Given the description of an element on the screen output the (x, y) to click on. 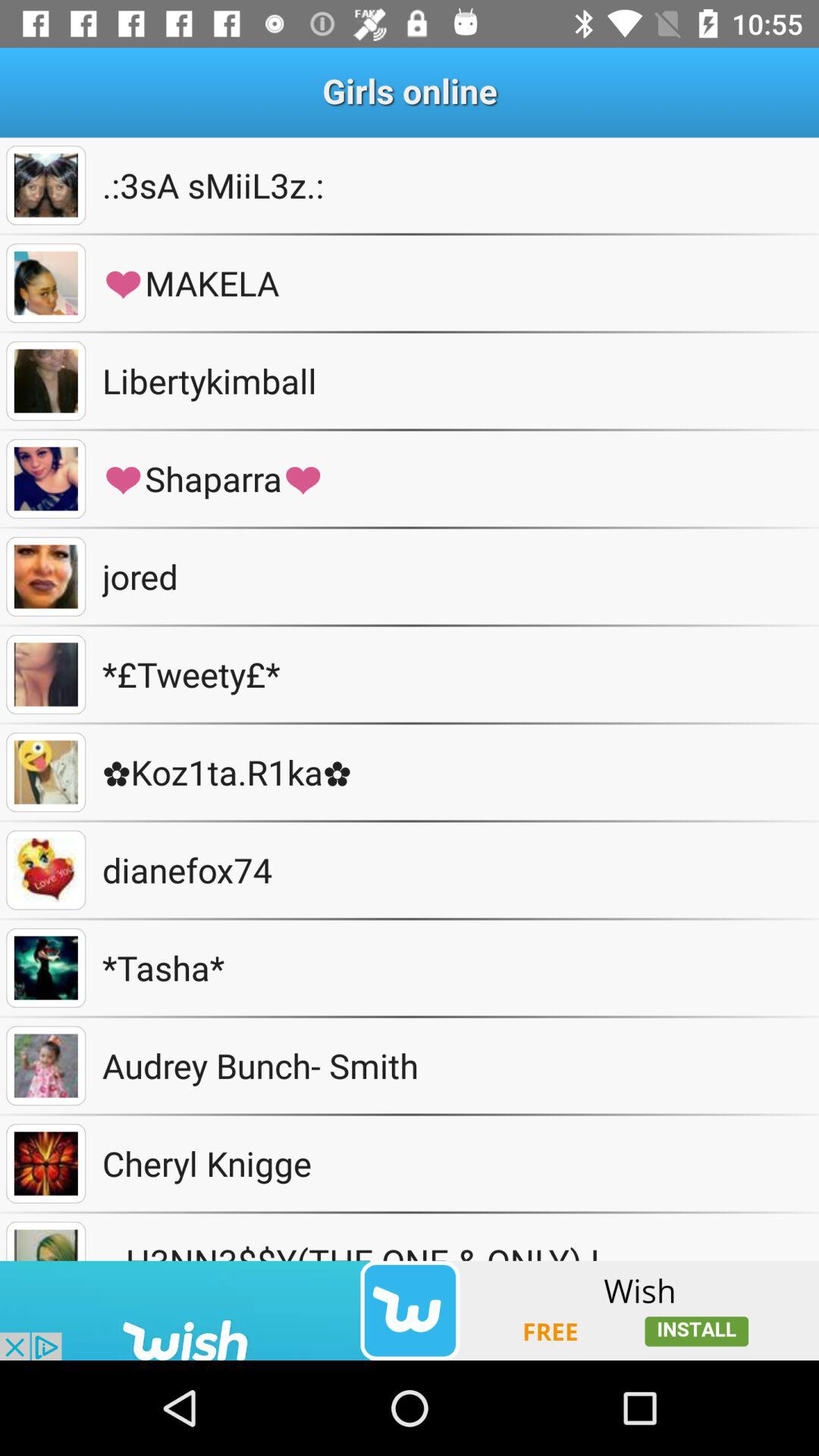
show profile picture (45, 772)
